Given the description of an element on the screen output the (x, y) to click on. 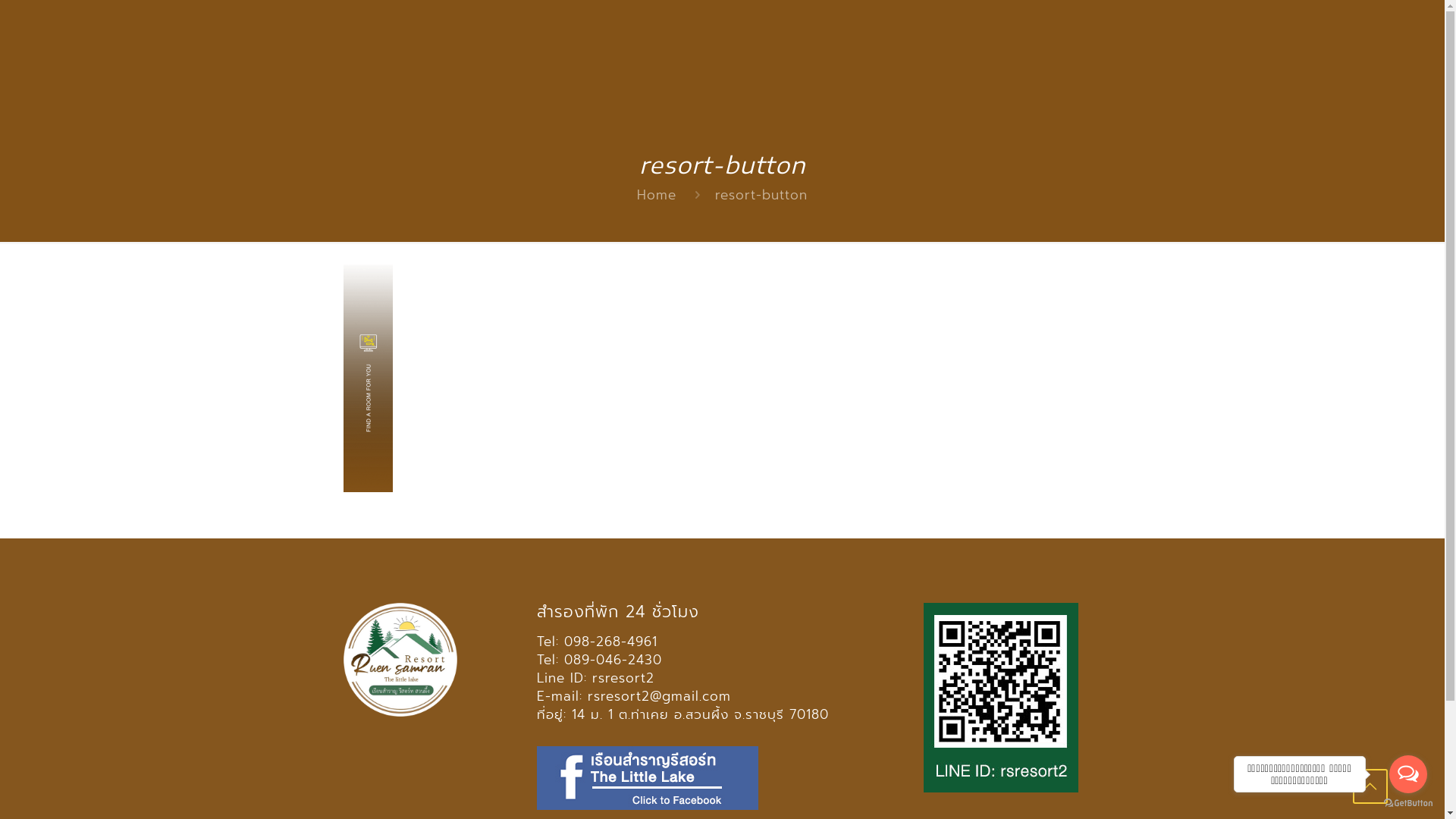
resort-button Element type: text (761, 194)
089-046-2430 Element type: text (613, 659)
Home Element type: text (656, 194)
rsresort2 Element type: text (623, 677)
rsresort2@gmail.com Element type: text (659, 696)
098-268-4961 Element type: text (610, 641)
